Given the description of an element on the screen output the (x, y) to click on. 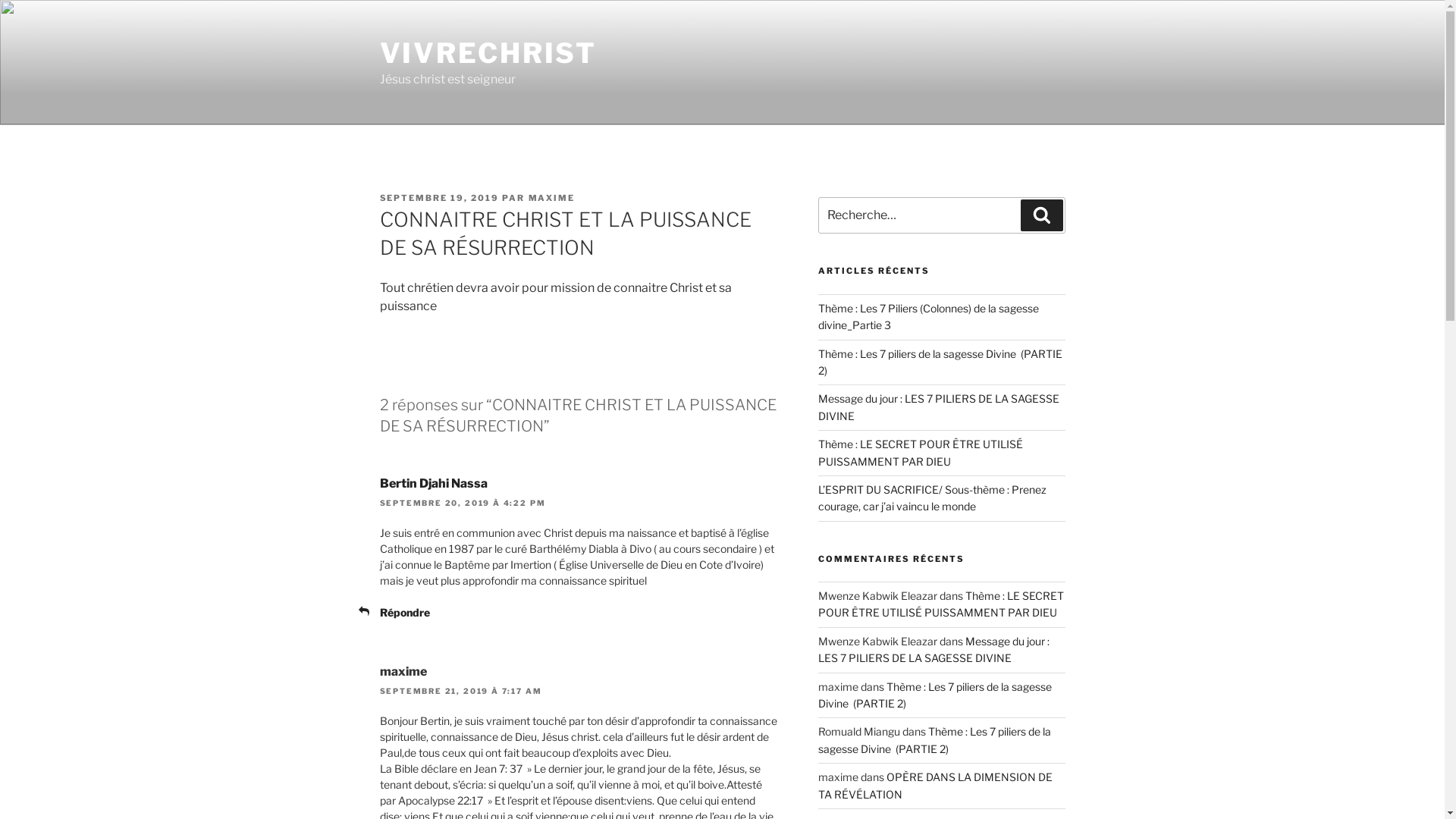
SEPTEMBRE 19, 2019 Element type: text (438, 197)
Bertin Djahi Nassa Element type: text (432, 483)
MAXIME Element type: text (550, 197)
VIVRECHRIST Element type: text (487, 52)
Recherche Element type: text (1041, 215)
Message du jour : LES 7 PILIERS DE LA SAGESSE DIVINE Element type: text (938, 406)
Message du jour : LES 7 PILIERS DE LA SAGESSE DIVINE Element type: text (933, 649)
